Given the description of an element on the screen output the (x, y) to click on. 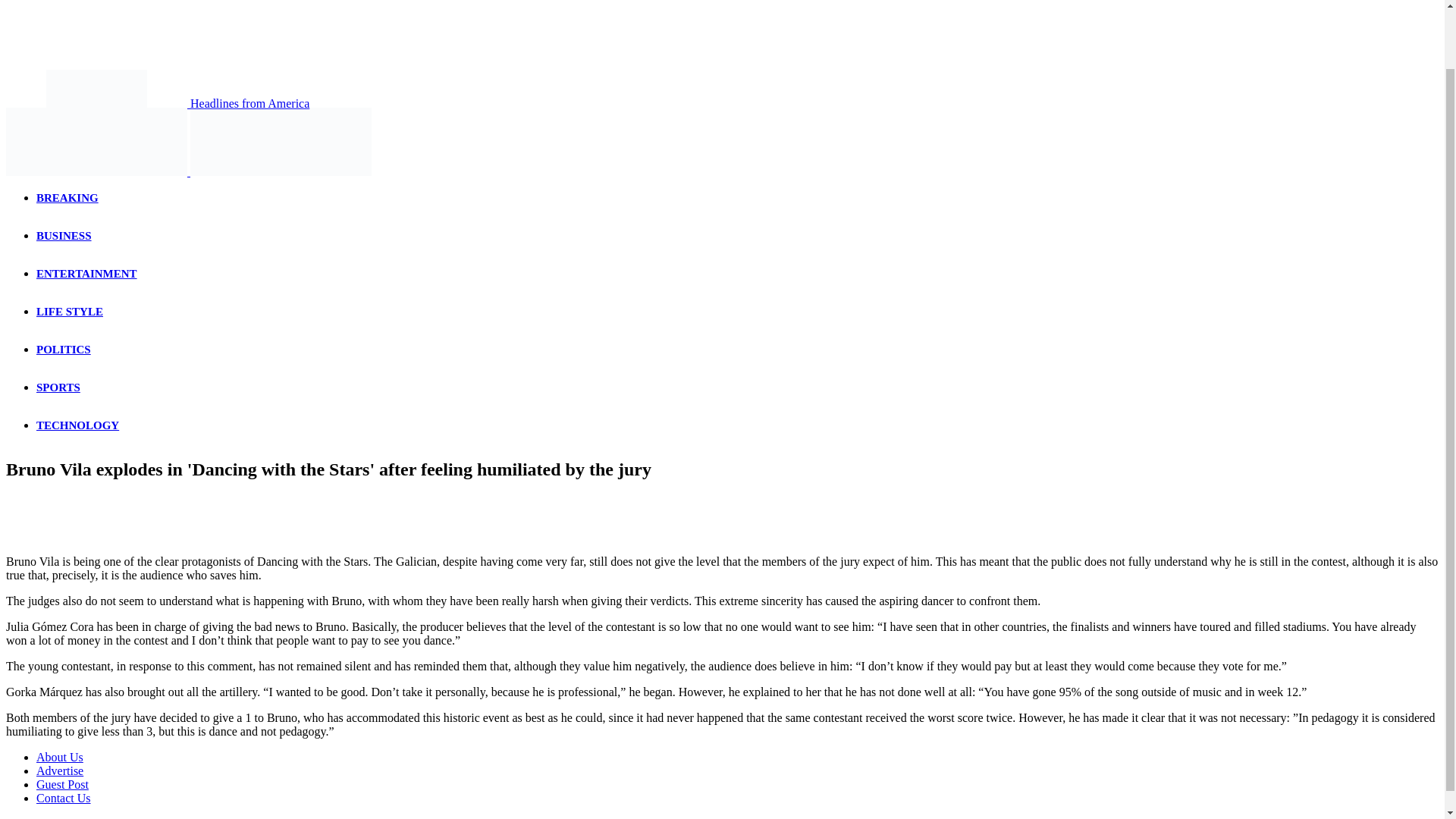
Daily News and Headlines from US (96, 88)
SPORTS (58, 387)
Daily News and Headlines from US (96, 141)
About Us (59, 757)
TECHNOLOGY (77, 425)
BREAKING (67, 197)
LIFE STYLE (69, 311)
ENTERTAINMENT (86, 273)
Headlines from America (156, 103)
POLITICS (63, 349)
Guest Post (62, 784)
Daily News and Headlines from US (280, 141)
Advertise (59, 770)
BUSINESS (63, 235)
Contact Us (63, 797)
